Given the description of an element on the screen output the (x, y) to click on. 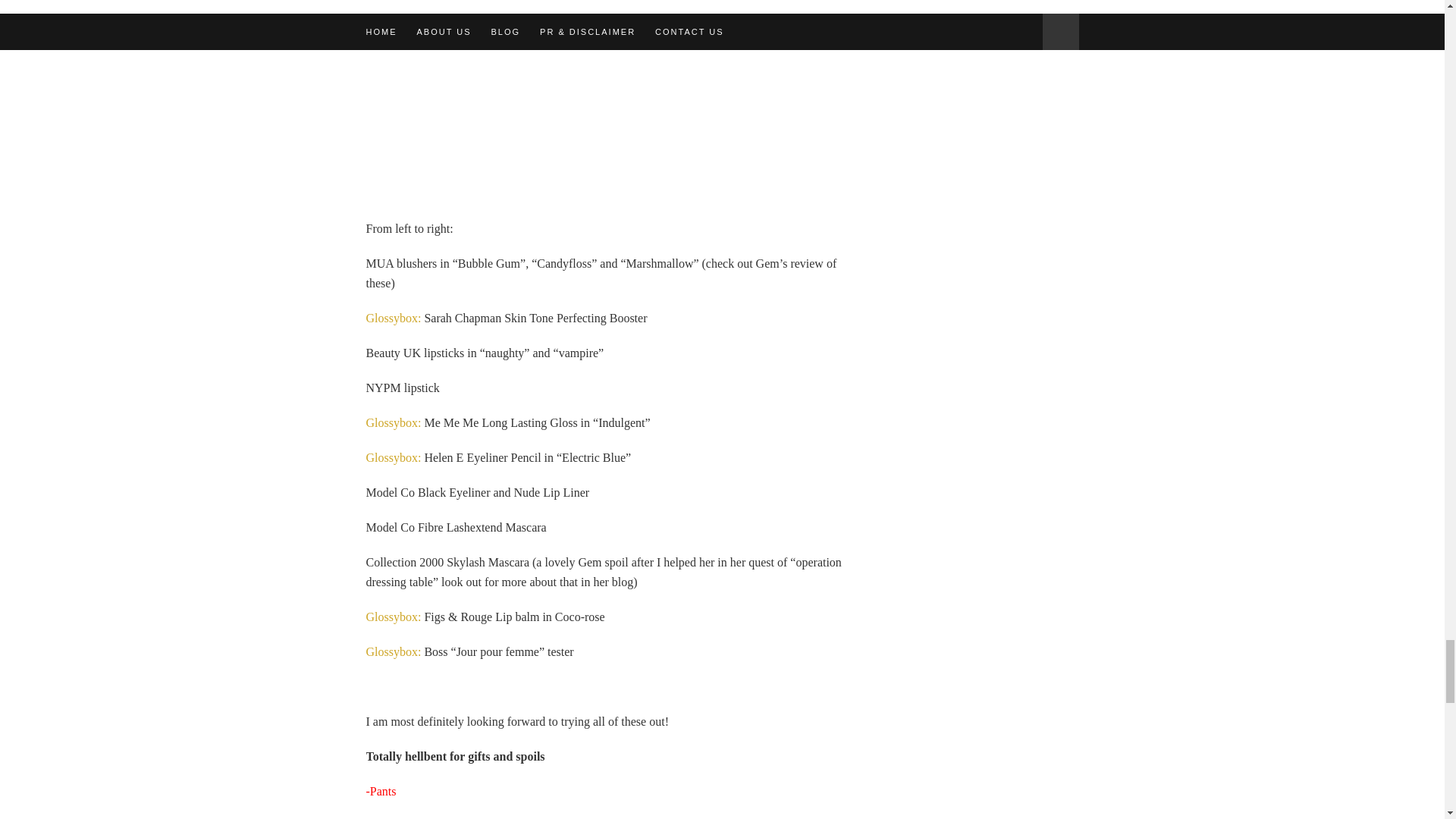
glossybox (392, 457)
glossybox (394, 616)
glossybox (392, 318)
glossybox (392, 651)
glossybox (392, 422)
